Given the description of an element on the screen output the (x, y) to click on. 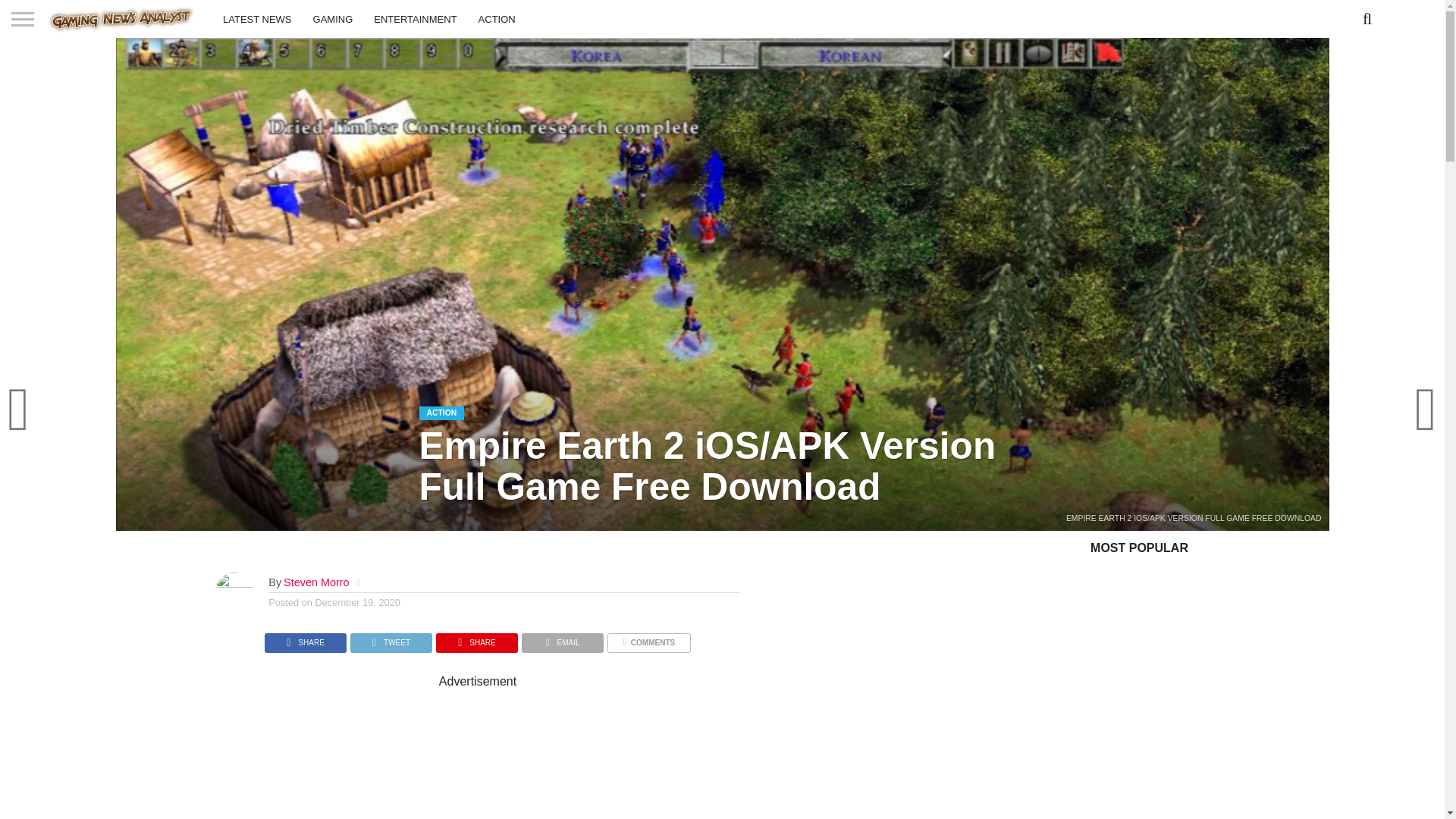
ACTION (496, 18)
Advertisement (602, 753)
Share on Facebook (305, 638)
COMMENTS (648, 638)
Steven Morro (316, 582)
TWEET (390, 638)
Pin This Post (476, 638)
Posts by Steven Morro (316, 582)
SHARE (476, 638)
SHARE (305, 638)
